Given the description of an element on the screen output the (x, y) to click on. 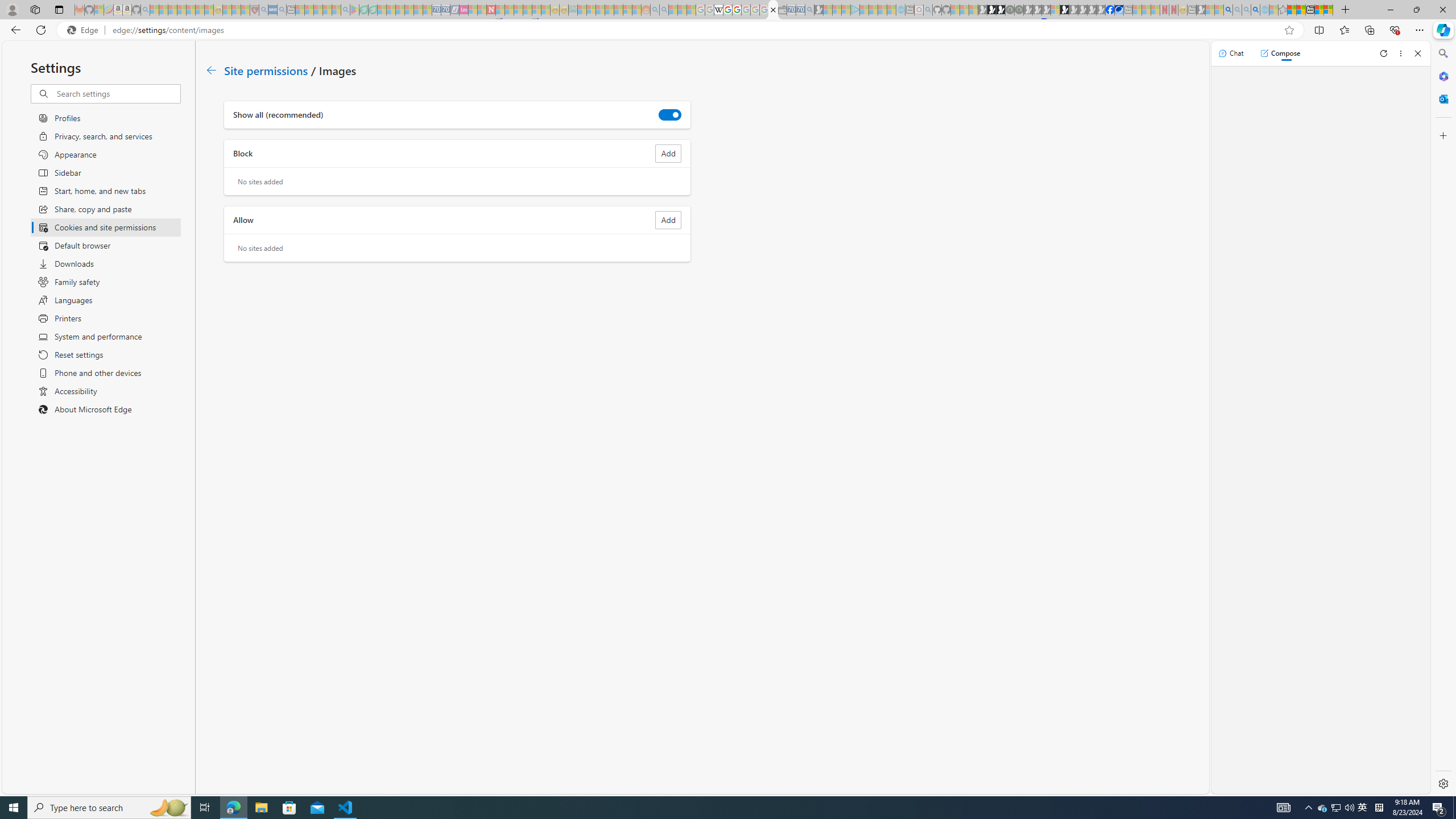
Target page - Wikipedia (718, 9)
Future Focus Report 2024 - Sleeping (1018, 9)
